Given the description of an element on the screen output the (x, y) to click on. 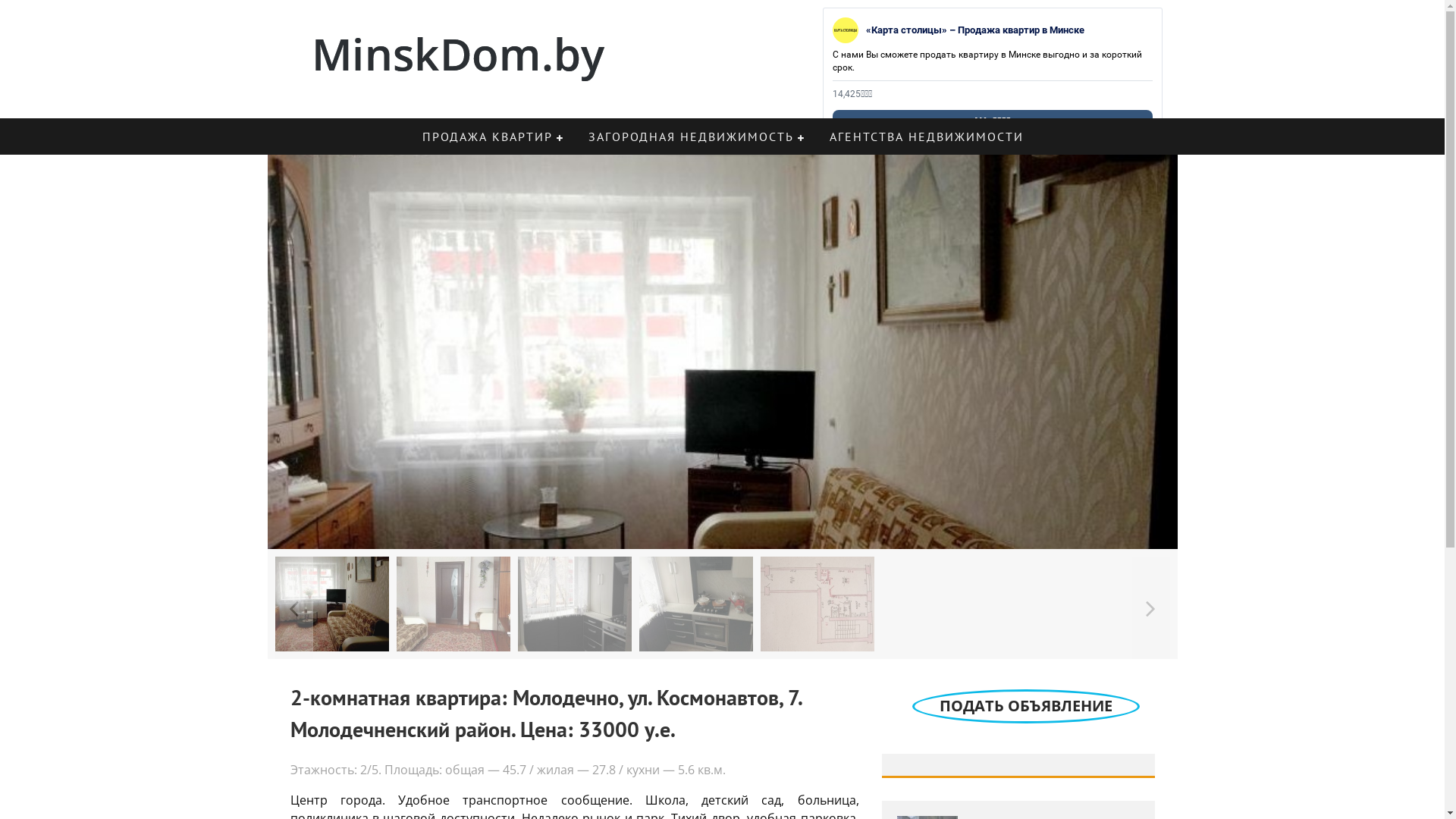
1948d Element type: hover (721, 777)
